Given the description of an element on the screen output the (x, y) to click on. 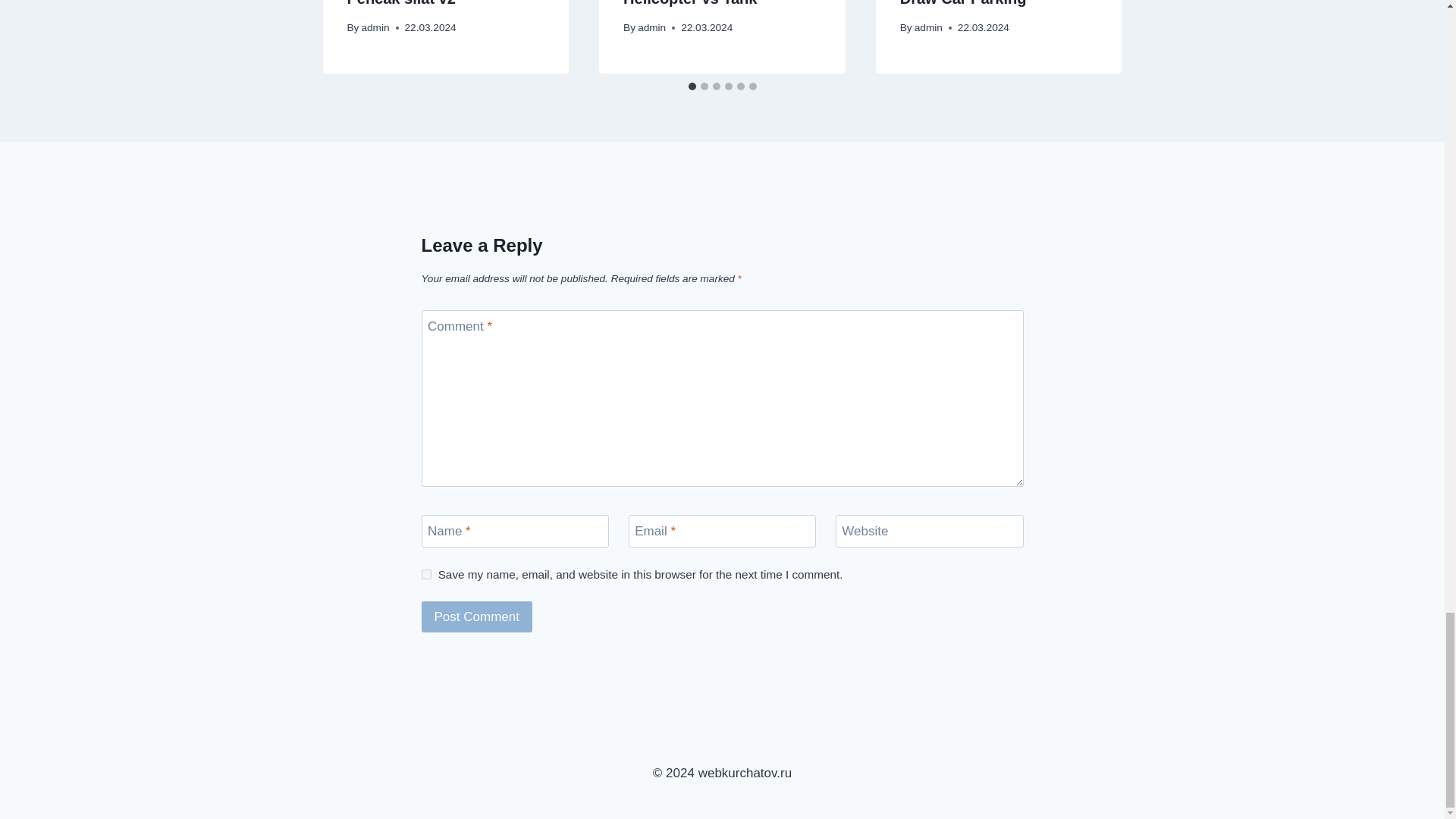
Post Comment (477, 616)
yes (426, 574)
